Given the description of an element on the screen output the (x, y) to click on. 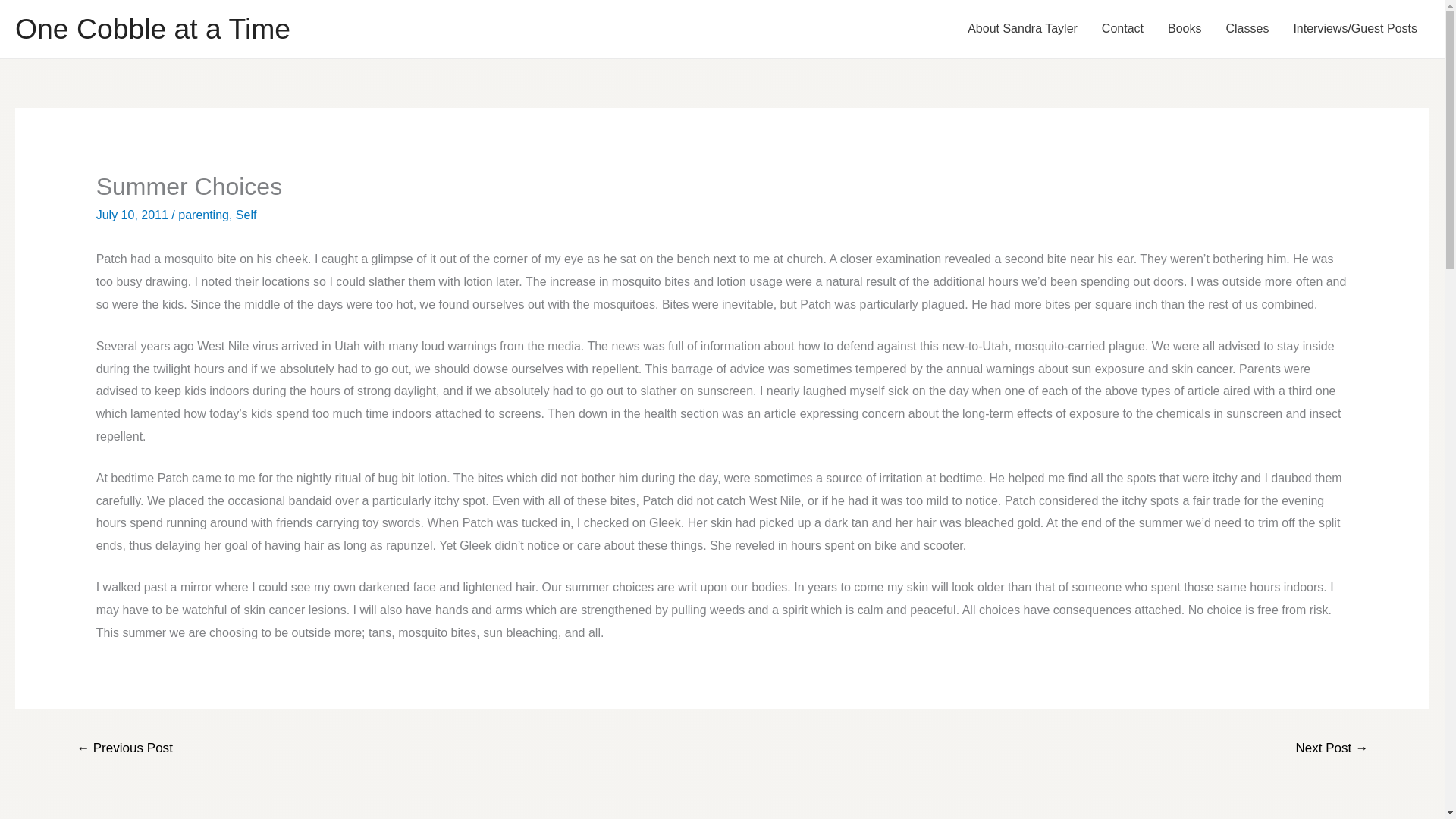
Books (1184, 29)
One Cobble at a Time (151, 29)
About Sandra Tayler (1022, 29)
parenting (202, 214)
Classes (1246, 29)
Self (246, 214)
Contact (1122, 29)
